Given the description of an element on the screen output the (x, y) to click on. 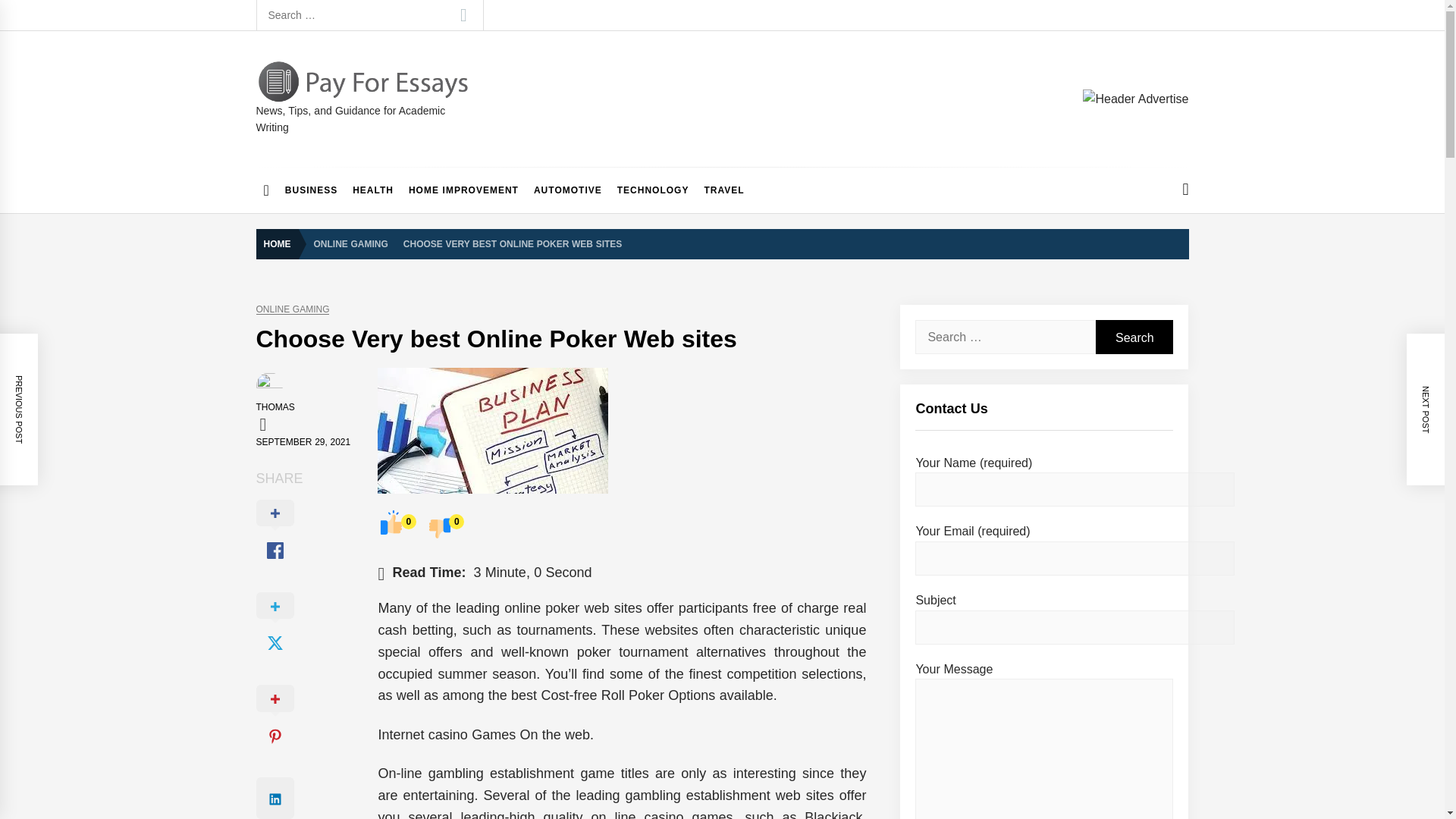
HOME (280, 244)
THOMAS (275, 407)
Search (462, 15)
HOME IMPROVEMENT (463, 189)
AUTOMOTIVE (567, 189)
Search (1134, 336)
TRAVEL (723, 189)
TECHNOLOGY (653, 189)
BUSINESS (311, 189)
Header Advertise (1135, 98)
ONLINE GAMING (350, 242)
ONLINE GAMING (293, 309)
SEPTEMBER 29, 2021 (303, 441)
Pay for Essays (348, 117)
HEALTH (373, 189)
